Given the description of an element on the screen output the (x, y) to click on. 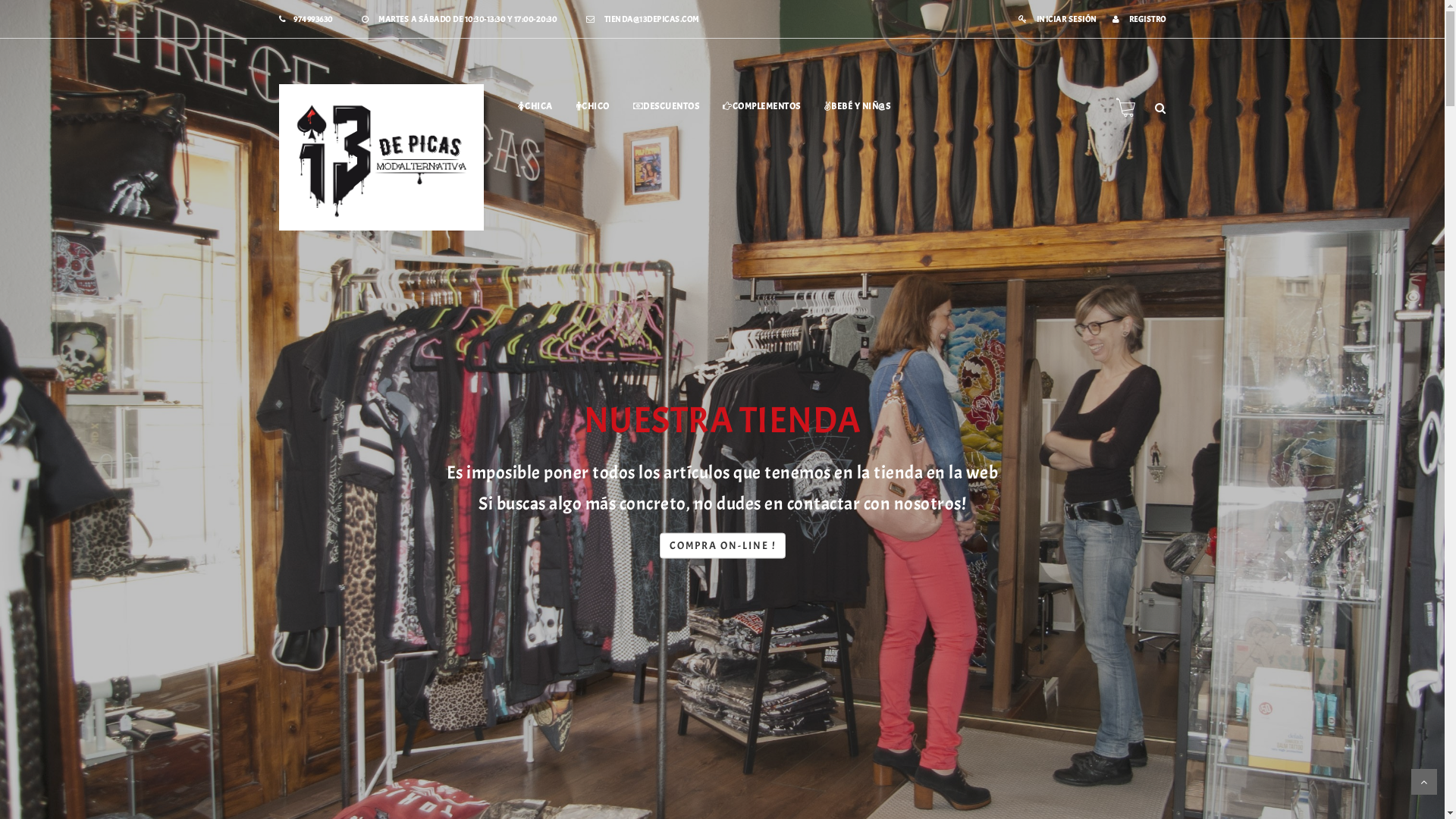
DESCUENTOS Element type: text (665, 106)
TIENDA@13DEPICAS.COM Element type: text (641, 18)
REGISTRO Element type: text (1138, 18)
CHICO Element type: text (592, 106)
DESCUENTOS Element type: text (722, 618)
CHICA Element type: text (534, 106)
13 DE PICAS SHOP Element type: hover (381, 157)
desplazarse Element type: text (1424, 781)
974993630 Element type: text (305, 18)
Carrito Element type: text (1126, 106)
COMPLEMENTOS Element type: text (761, 106)
